Given the description of an element on the screen output the (x, y) to click on. 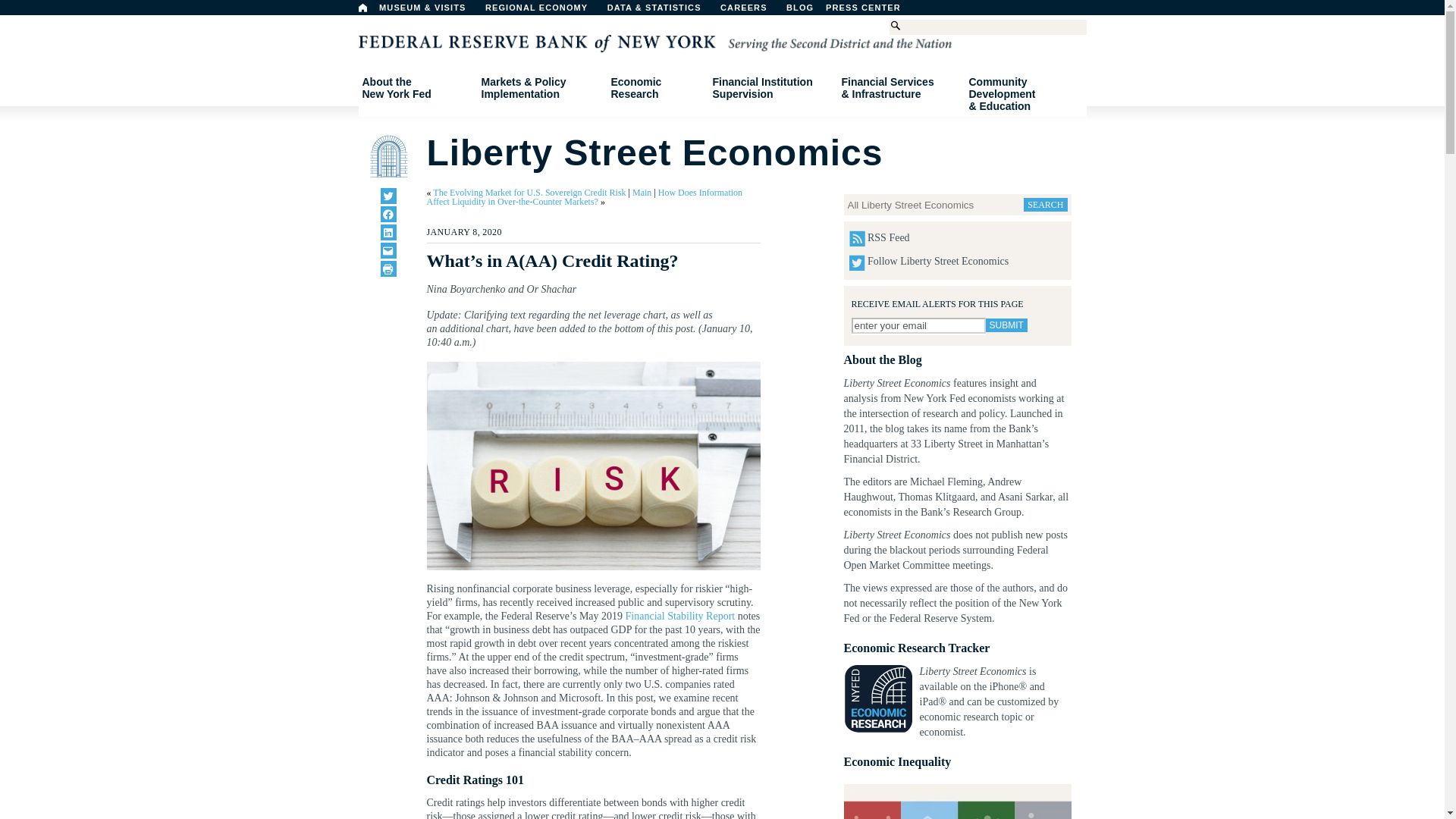
REGIONAL ECONOMY (543, 11)
Click to share on Twitter (388, 195)
BLOG (839, 11)
Home (362, 8)
Submit (415, 87)
Click to share on Facebook (1006, 325)
CAREERS (388, 213)
Click to email a link to a friend (751, 11)
enter your email (388, 250)
